Given the description of an element on the screen output the (x, y) to click on. 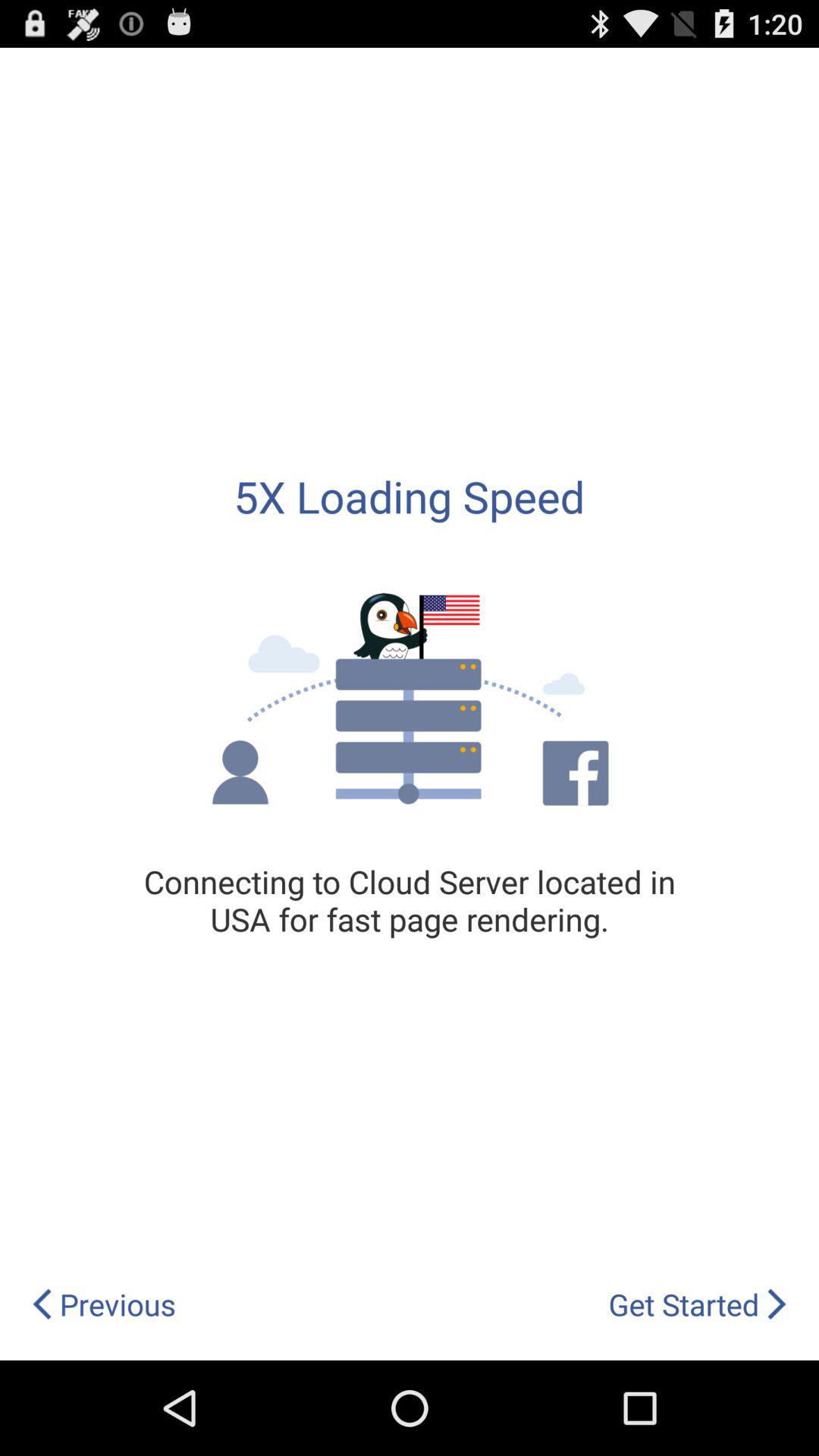
choose app below the connecting to cloud icon (697, 1304)
